Given the description of an element on the screen output the (x, y) to click on. 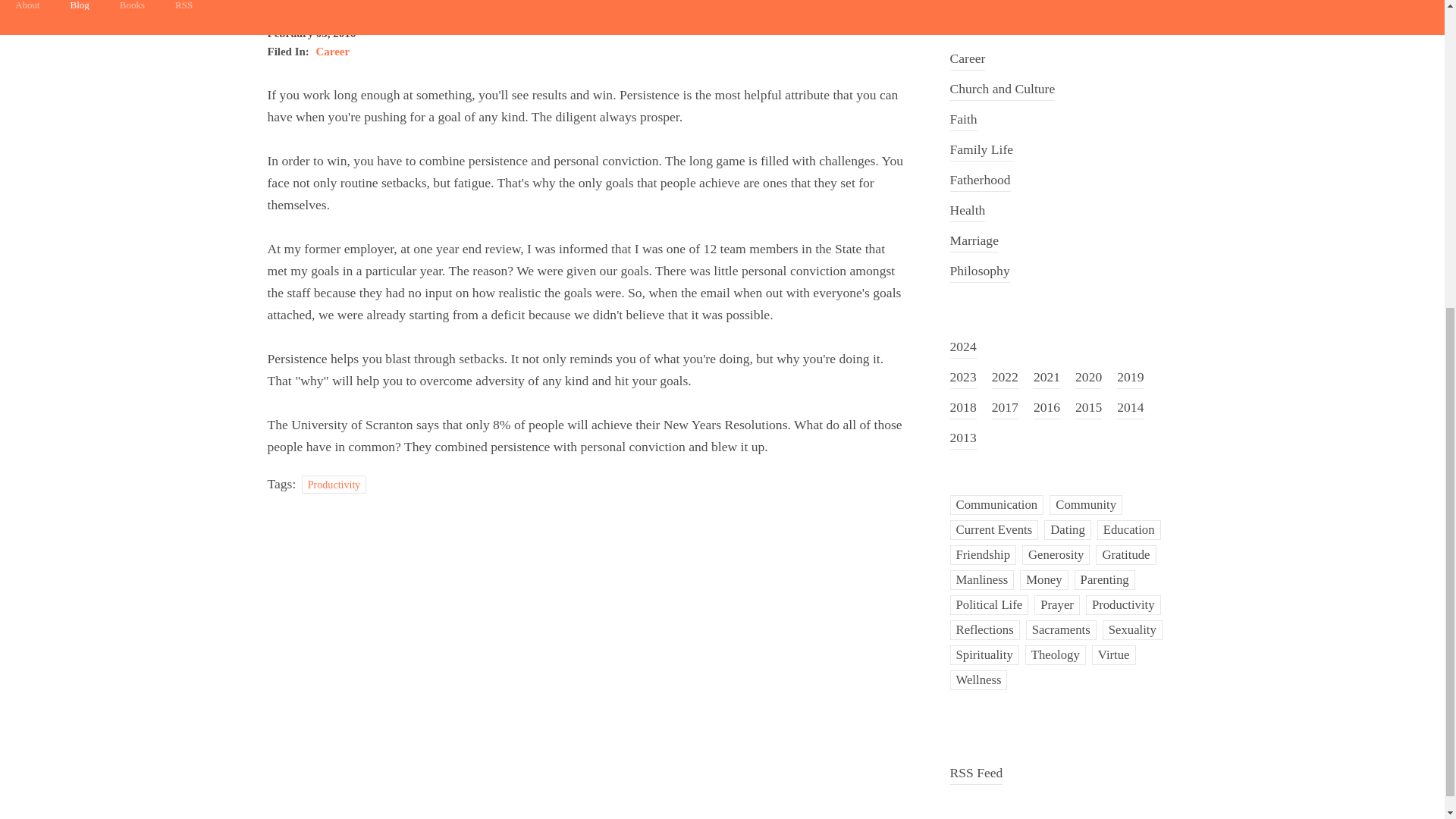
Faith (962, 115)
Money (1043, 579)
Communication (996, 505)
Dating (1066, 529)
Manliness (981, 579)
Productivity (333, 484)
Dating (1066, 529)
Spirituality (983, 655)
Sacraments (1061, 629)
Community (1085, 505)
